Given the description of an element on the screen output the (x, y) to click on. 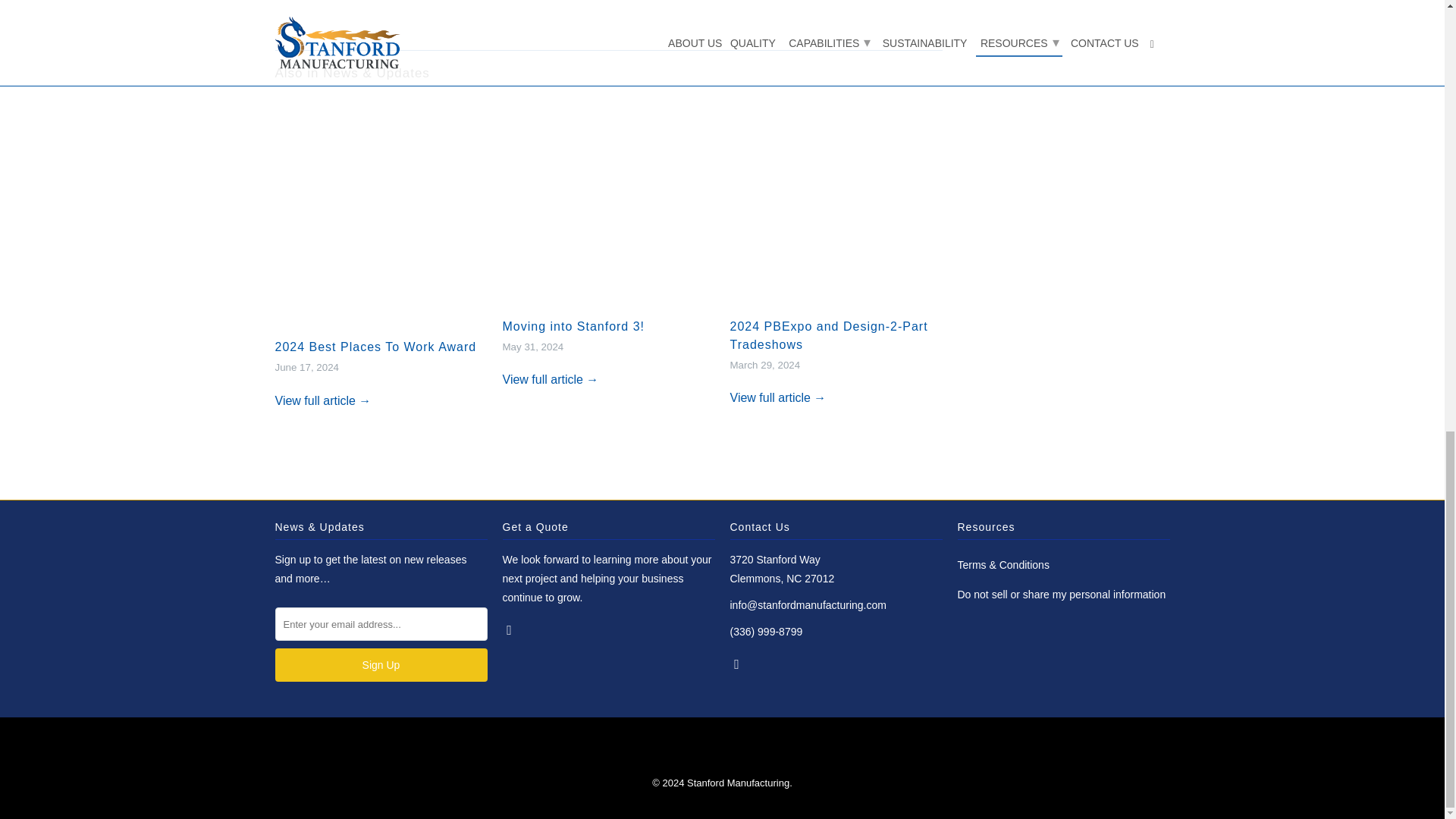
Stanford Manufacturing on LinkedIn (510, 629)
2024 Best Places To Work Award (375, 346)
2024 PBExpo and Design-2-Part Tradeshows (828, 335)
Moving into Stanford 3! (573, 326)
2024 PBExpo and Design-2-Part Tradeshows (835, 207)
Moving into Stanford 3! (550, 379)
2024 PBExpo and Design-2-Part Tradeshows (777, 397)
Moving into Stanford 3! (608, 207)
Sign Up (380, 664)
Moving into Stanford 3! (573, 326)
2024 Best Places To Work Award (375, 346)
2024 Best Places To Work Award (323, 400)
